Given the description of an element on the screen output the (x, y) to click on. 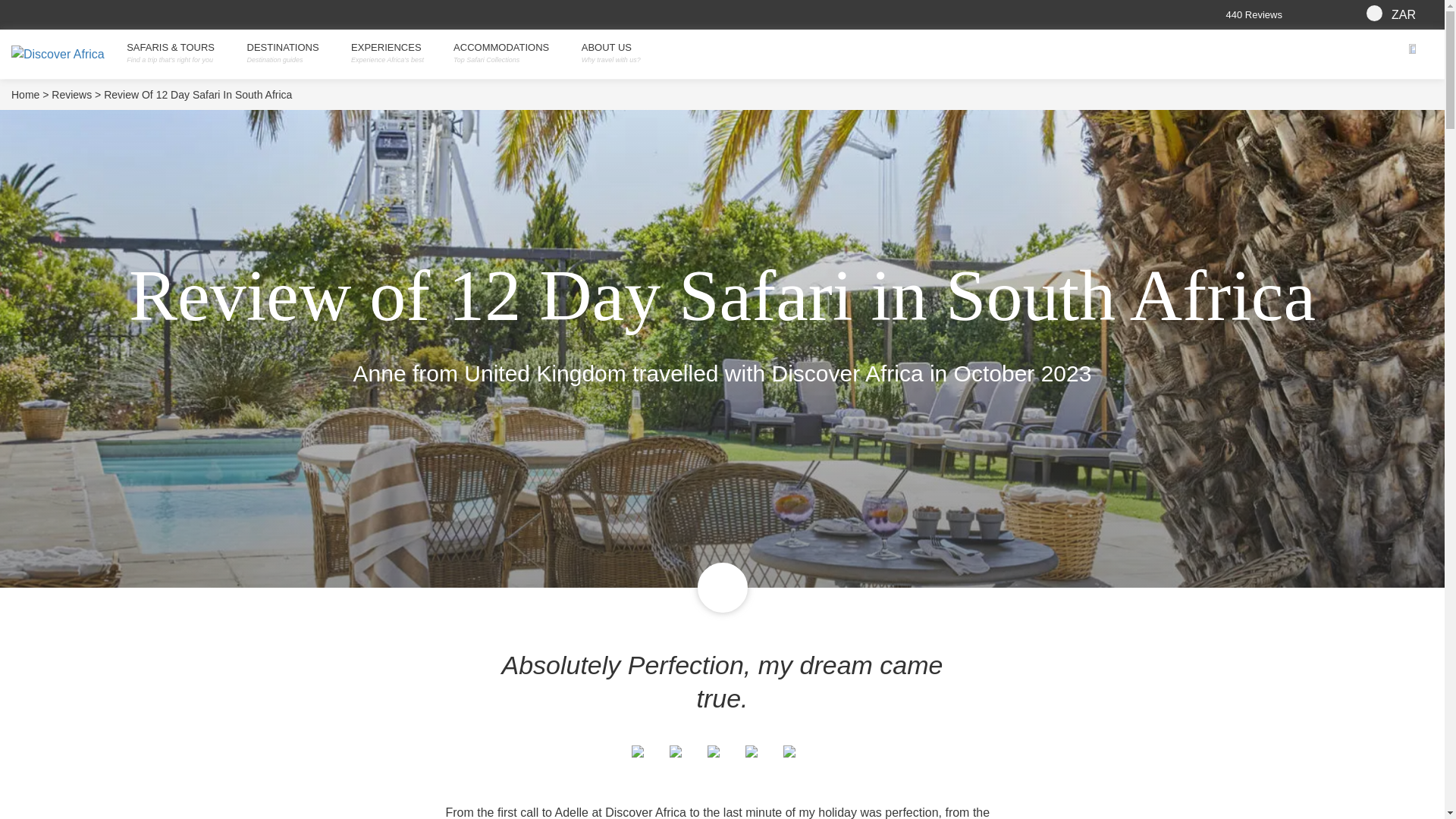
440 Reviews (1291, 14)
Find a trip that's right for you (175, 59)
Reviews (75, 94)
Destination guides (288, 59)
DESTINATIONS (288, 47)
Review of 12 Day Safari in South Africa (197, 94)
